Given the description of an element on the screen output the (x, y) to click on. 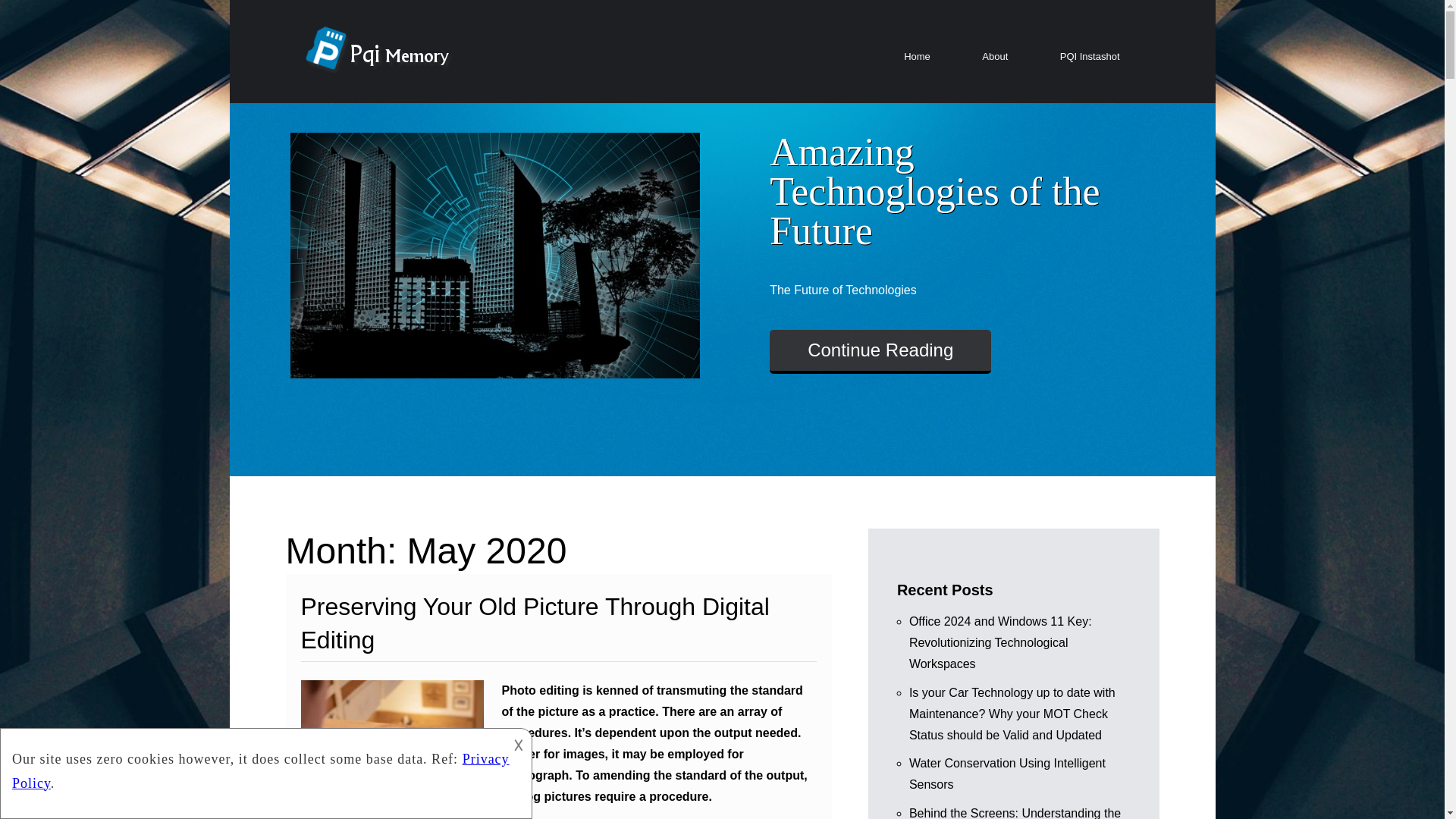
description (264, 770)
Continue Reading (880, 351)
Home (917, 57)
PQI Instashot (1089, 57)
Preserving Your Old Picture Through Digital Editing (533, 622)
About (994, 57)
